Given the description of an element on the screen output the (x, y) to click on. 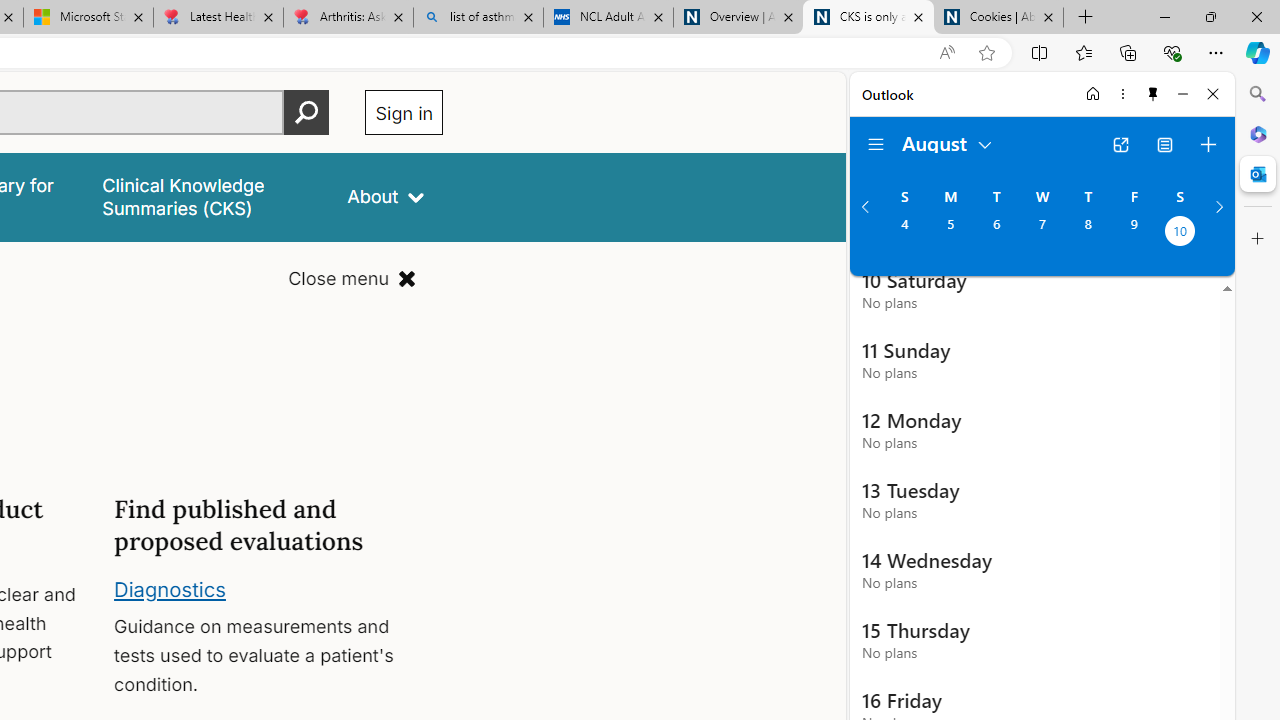
Folder navigation (876, 144)
Close menu (352, 278)
